Given the description of an element on the screen output the (x, y) to click on. 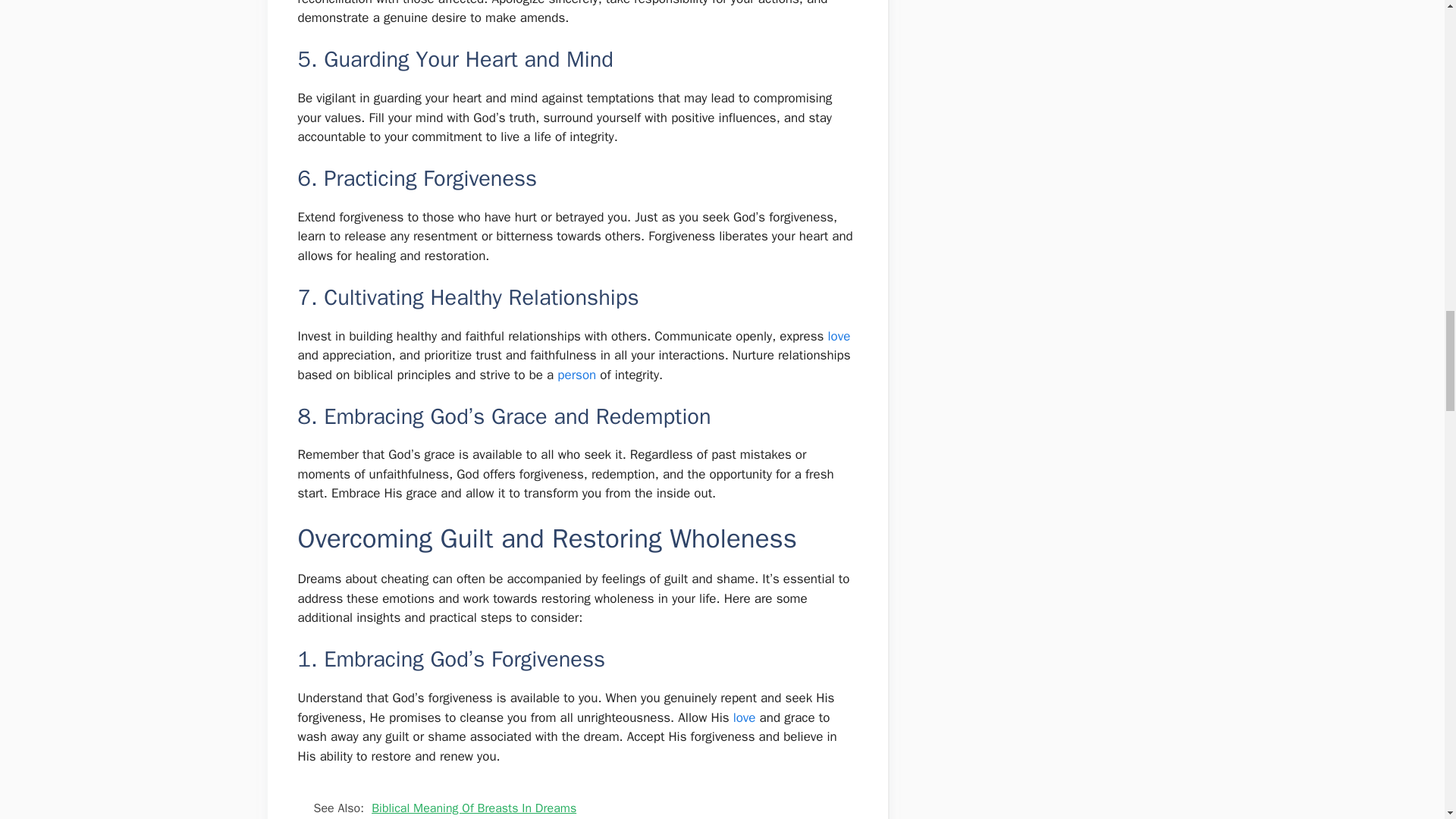
love (838, 335)
See Also:  Biblical Meaning Of Breasts In Dreams (577, 802)
love (744, 717)
person (576, 374)
person (576, 374)
love (838, 335)
love (744, 717)
